Given the description of an element on the screen output the (x, y) to click on. 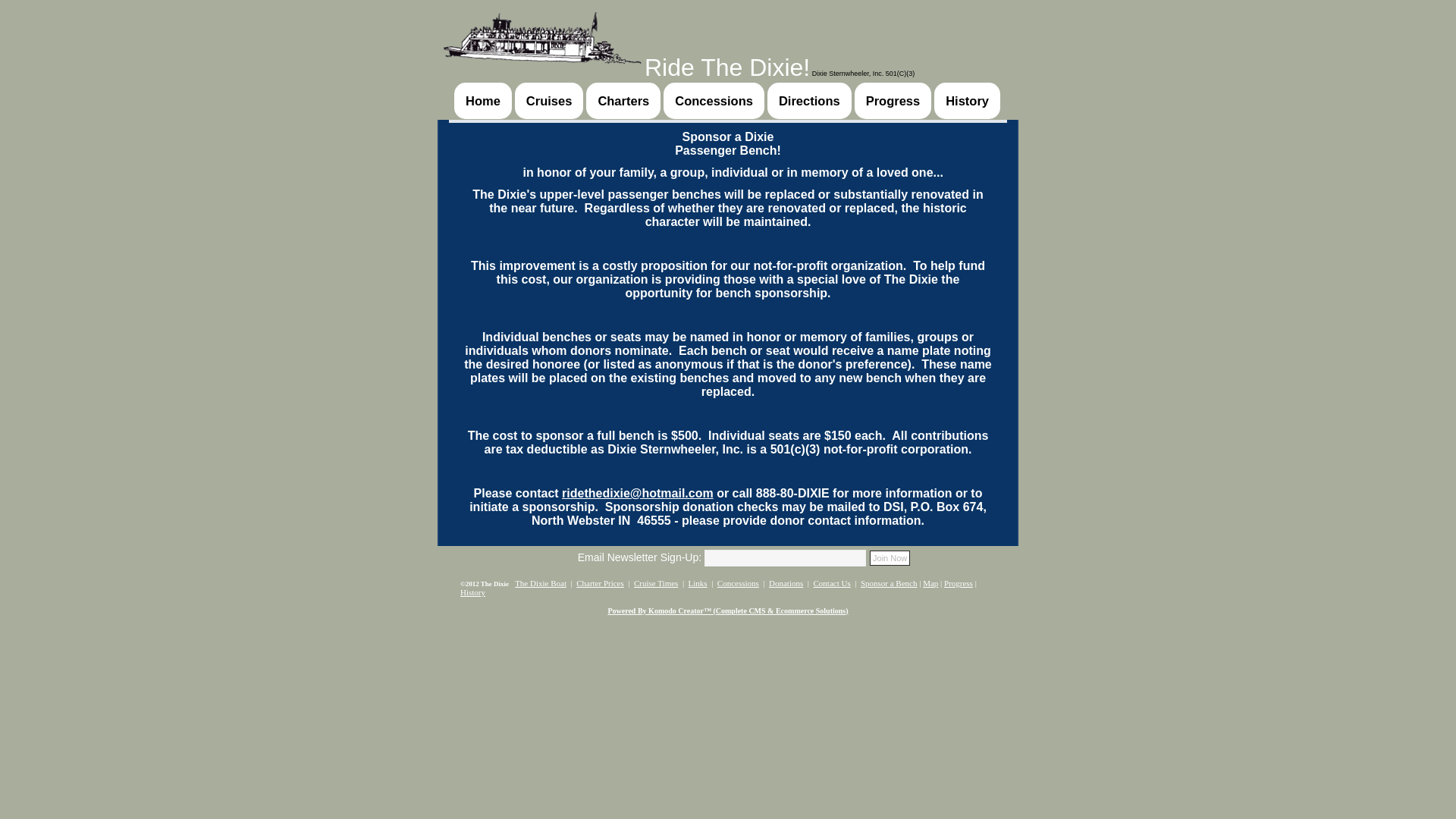
Directions (809, 100)
Directions (809, 100)
Sponsor a Bench (888, 583)
History (472, 592)
Charter Prices (600, 583)
Progress (892, 100)
Join Now (889, 557)
The Dixie Boat (540, 583)
Concessions (713, 100)
Progress (892, 100)
